Given the description of an element on the screen output the (x, y) to click on. 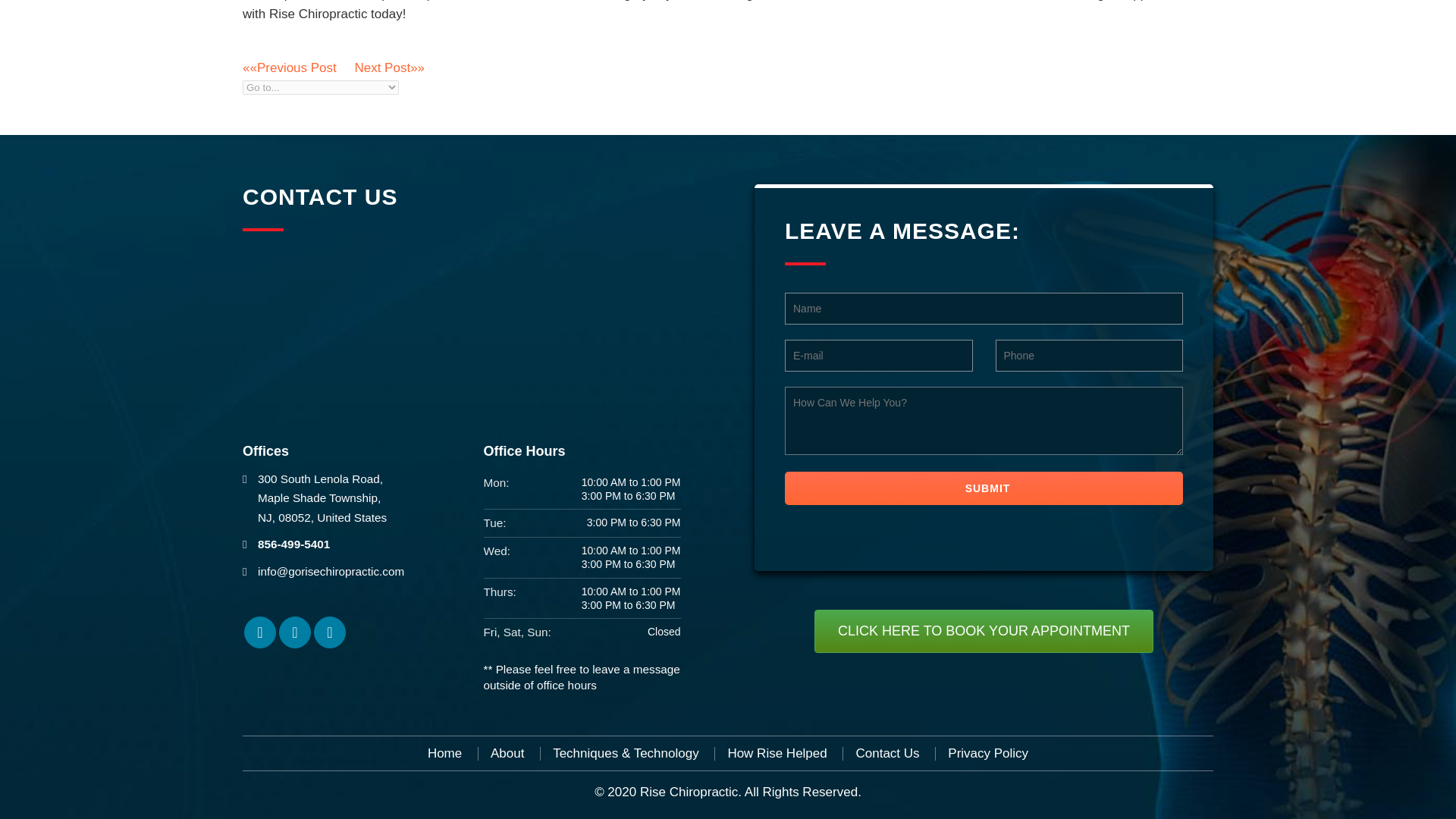
CLICK HERE TO BOOK YOUR APPOINTMENT (983, 631)
Home (444, 753)
View Map (322, 498)
Privacy Policy (987, 753)
856-499-5401 (293, 543)
Instagram (295, 632)
Submit (983, 488)
Submit (983, 488)
About (507, 753)
Google Map (330, 632)
Contact Us (887, 753)
How Rise Helped (776, 753)
Facebook (260, 632)
